Given the description of an element on the screen output the (x, y) to click on. 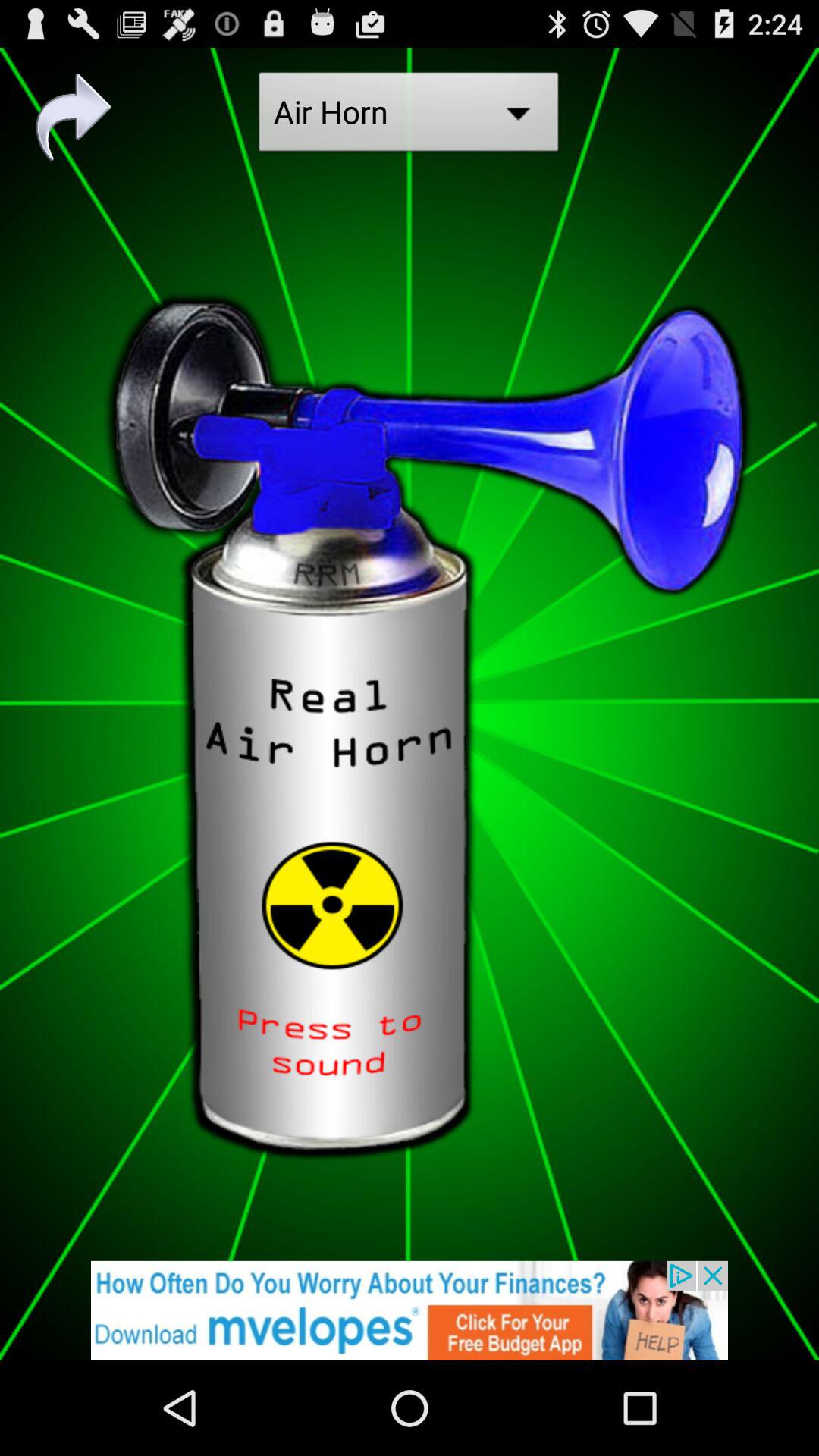
advertisement (409, 1310)
